Given the description of an element on the screen output the (x, y) to click on. 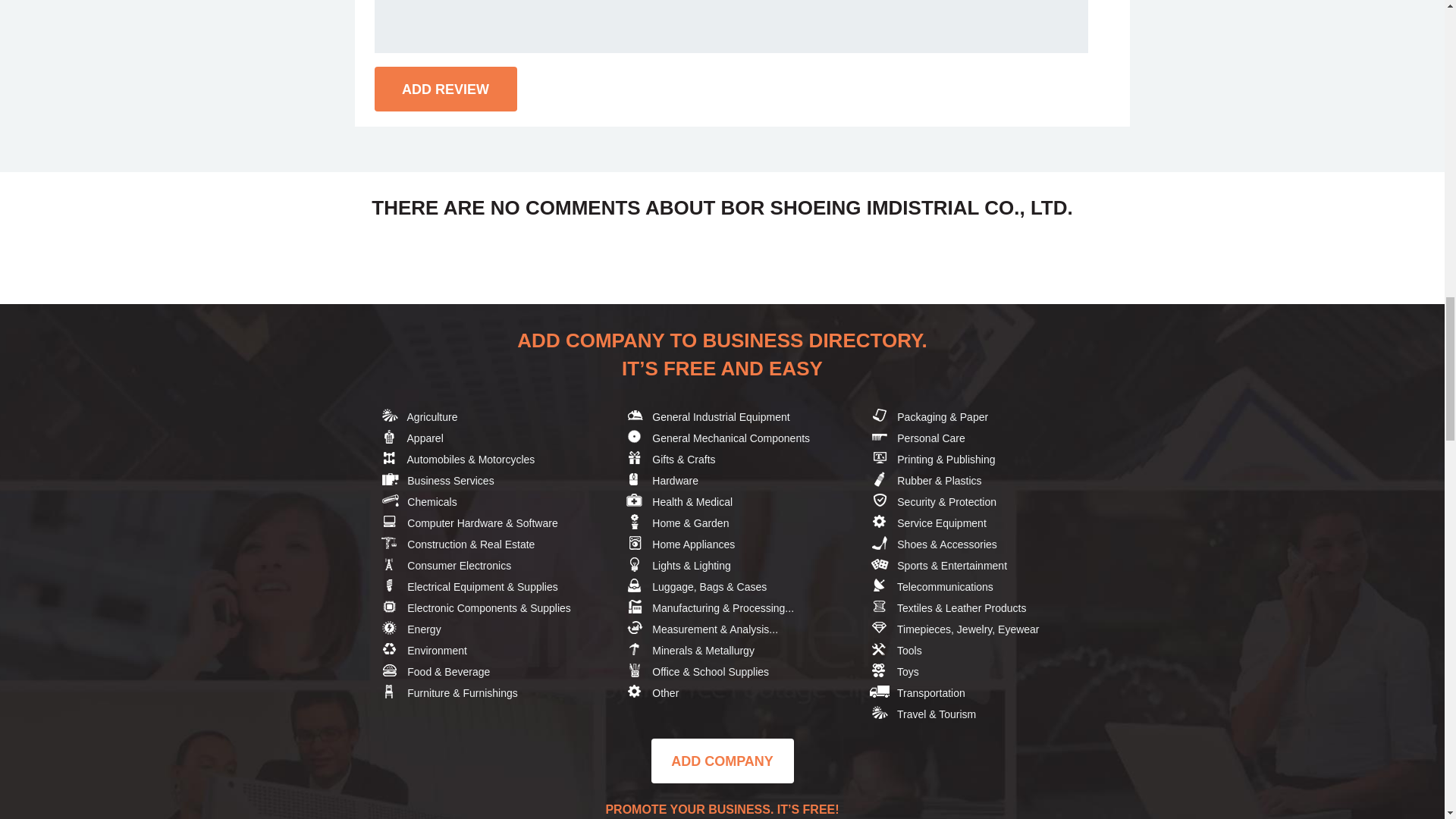
ADD REVIEW (445, 88)
ADD COMPANY (721, 760)
